Given the description of an element on the screen output the (x, y) to click on. 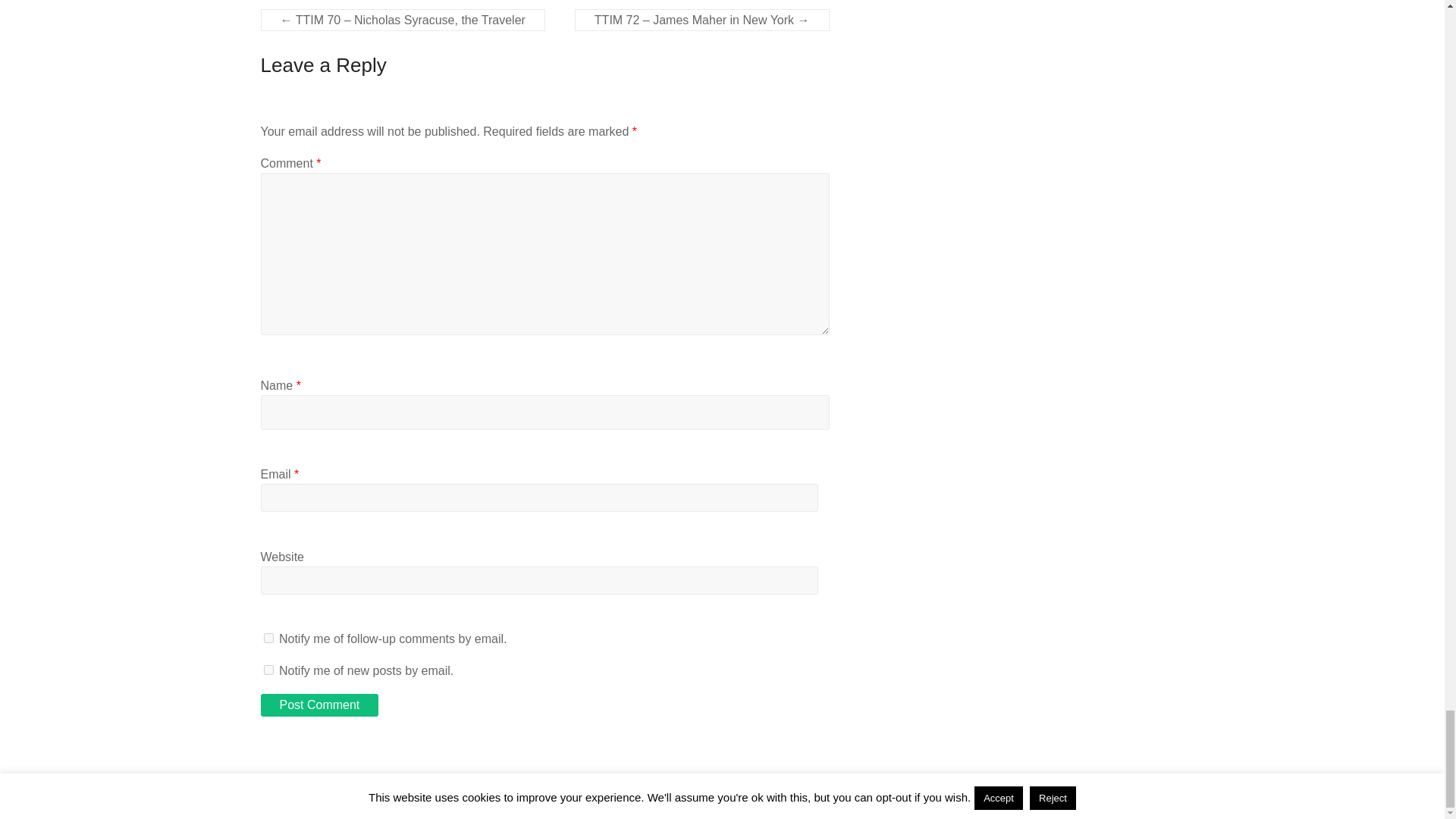
subscribe (268, 637)
Post Comment (319, 704)
Post Comment (319, 704)
subscribe (268, 669)
